Given the description of an element on the screen output the (x, y) to click on. 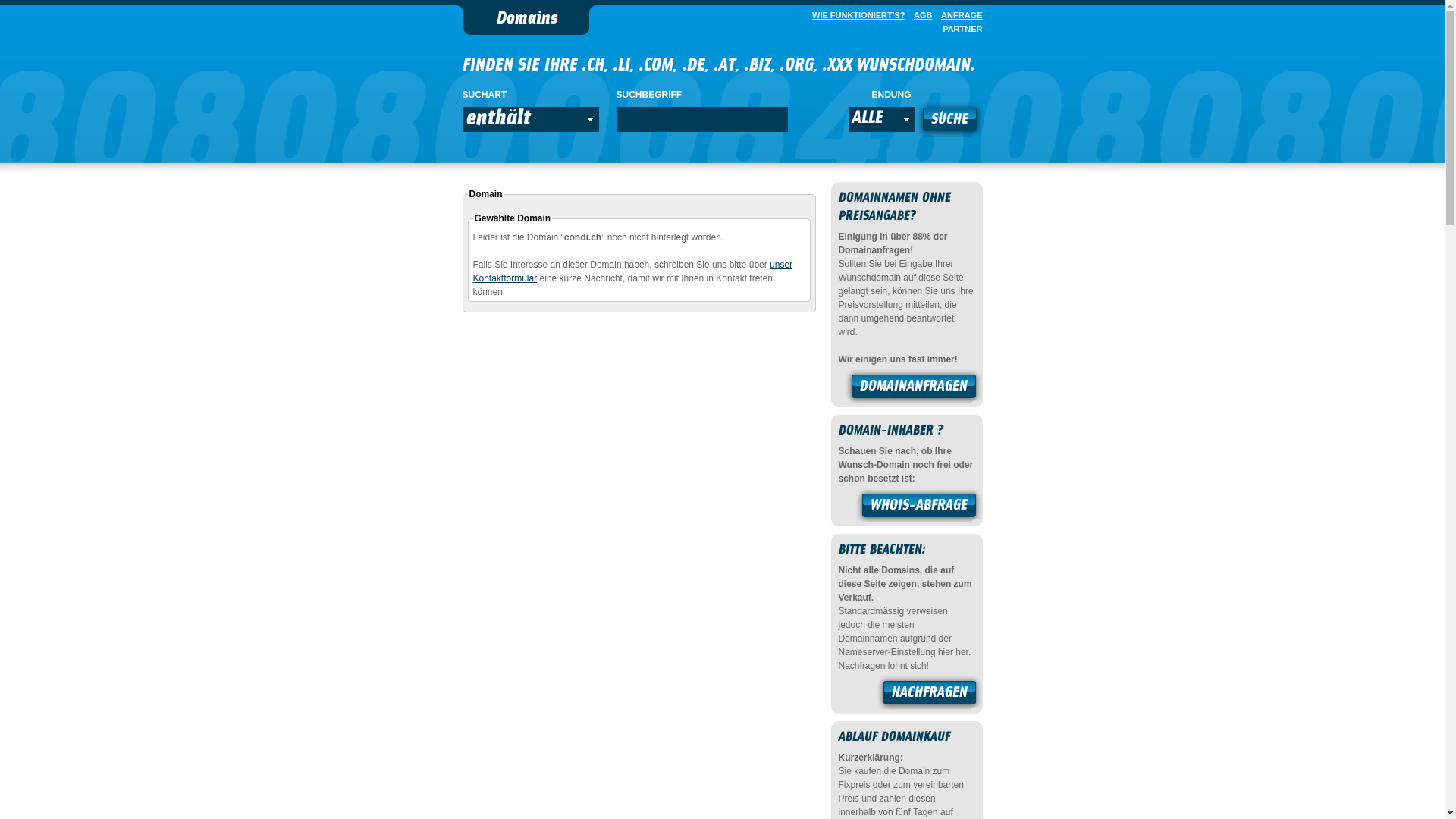
Domains Element type: text (526, 19)
NACHFRAGEN Element type: text (929, 694)
AGB Element type: text (919, 14)
PARTNER Element type: text (959, 28)
WHOIS-ABFRAGE Element type: text (918, 507)
DOMAINANFRAGEN Element type: text (913, 387)
ANFRAGE Element type: text (958, 14)
WIE FUNKTIONIERT'S? Element type: text (855, 14)
SUCHE Element type: text (949, 121)
unser Kontaktformular Element type: text (633, 271)
